Given the description of an element on the screen output the (x, y) to click on. 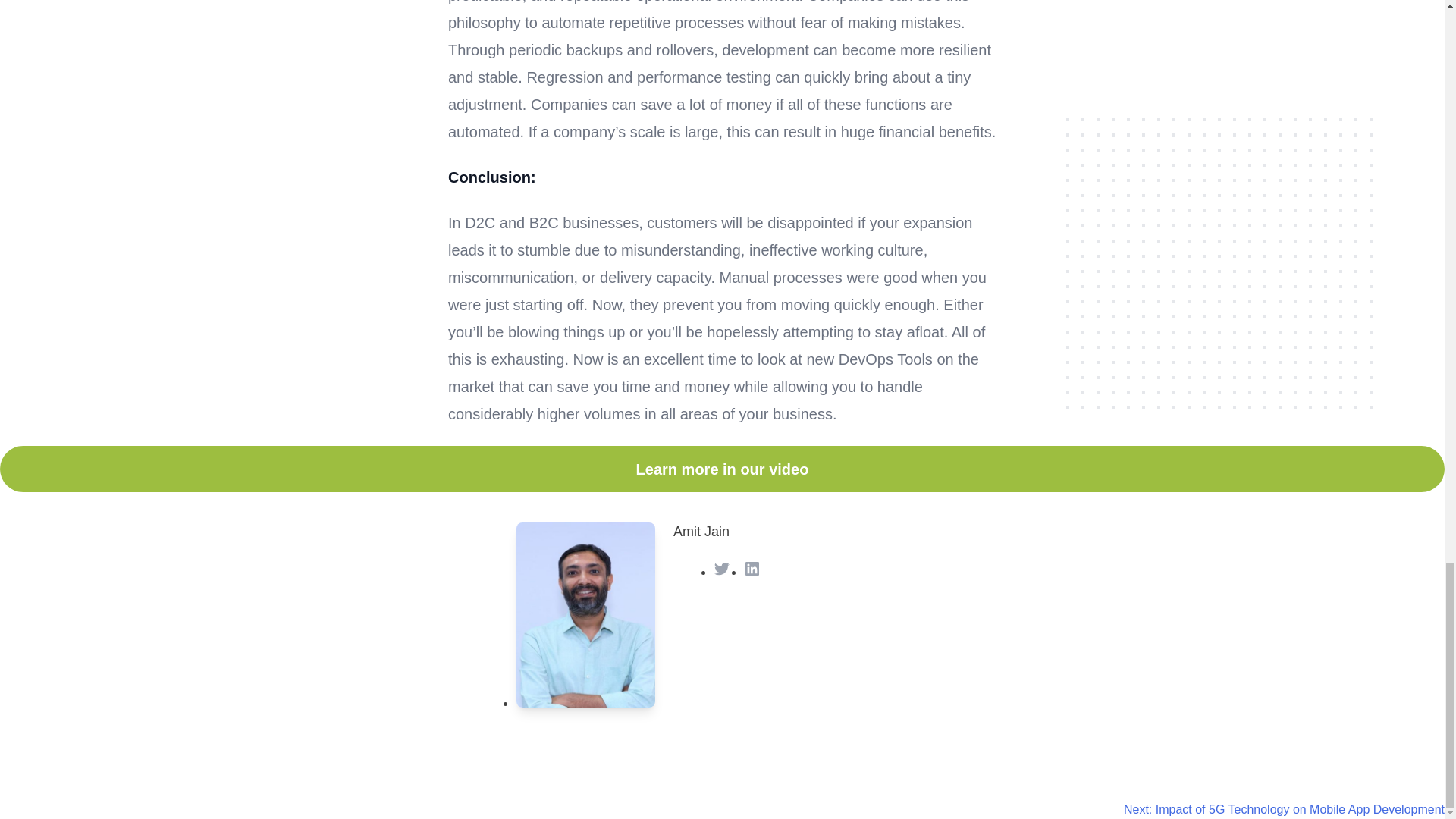
Twitter (721, 568)
LinkedIn (752, 568)
